Given the description of an element on the screen output the (x, y) to click on. 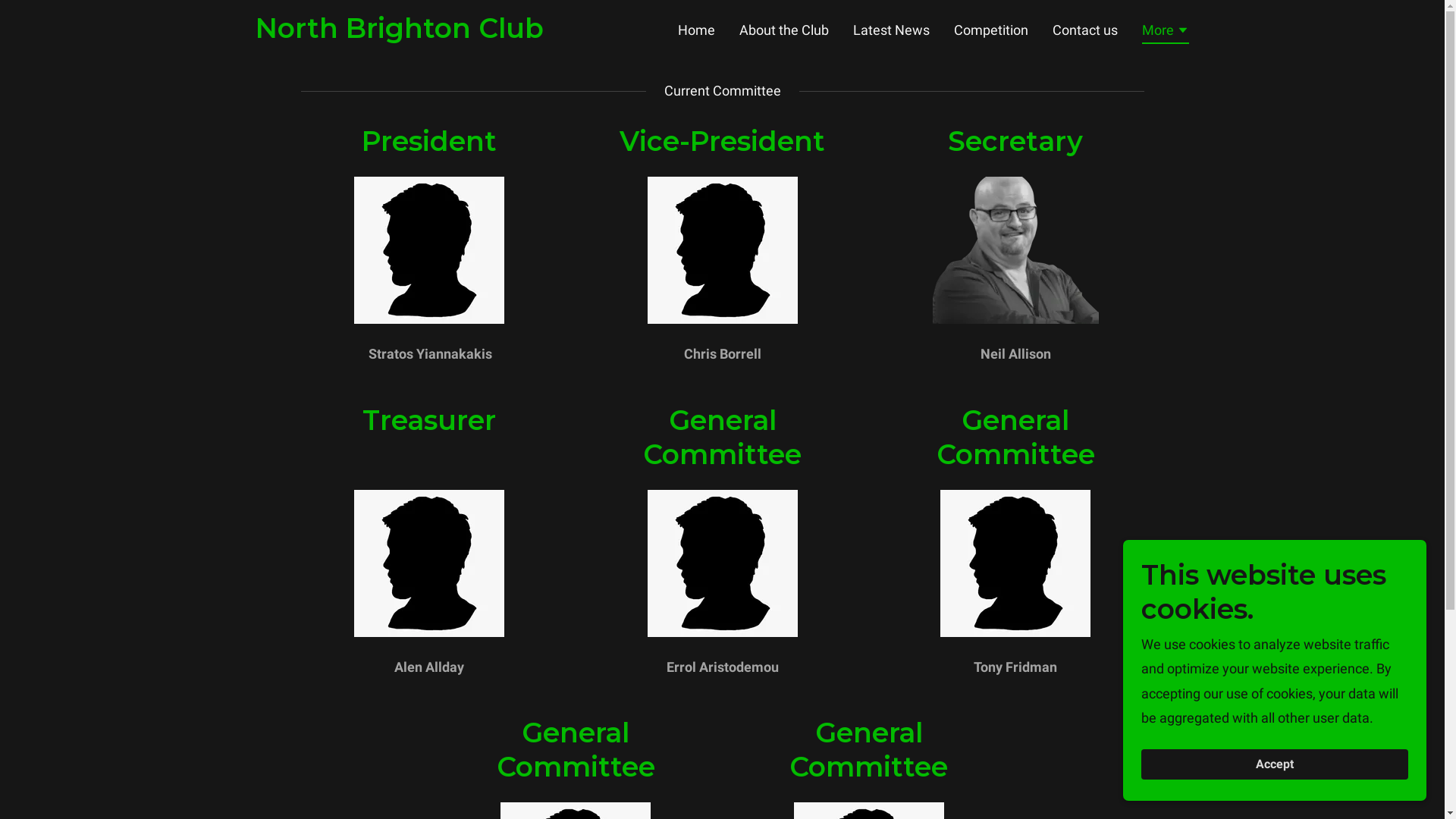
Contact us Element type: text (1085, 29)
More Element type: text (1165, 32)
Latest News Element type: text (891, 29)
Home Element type: text (696, 29)
North Brighton Club Element type: text (398, 32)
About the Club Element type: text (783, 29)
Competition Element type: text (990, 29)
Accept Element type: text (1274, 764)
